Given the description of an element on the screen output the (x, y) to click on. 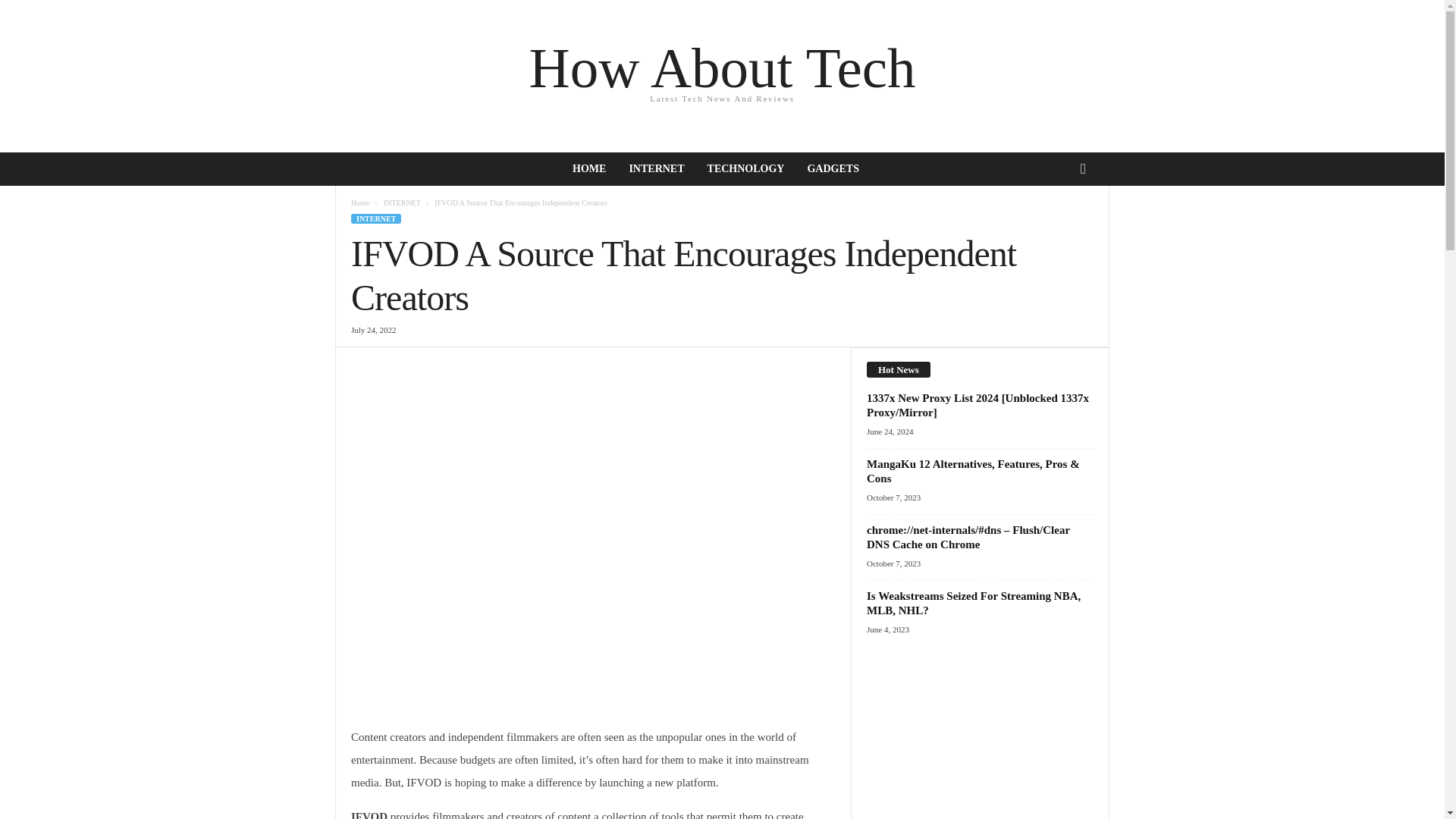
GADGETS (831, 168)
HOME (588, 168)
Home (359, 203)
Is Weakstreams Seized For Streaming NBA, MLB, NHL? (973, 602)
INTERNET (656, 168)
TECHNOLOGY (722, 76)
View all posts in INTERNET (745, 168)
INTERNET (402, 203)
INTERNET (375, 218)
